Given the description of an element on the screen output the (x, y) to click on. 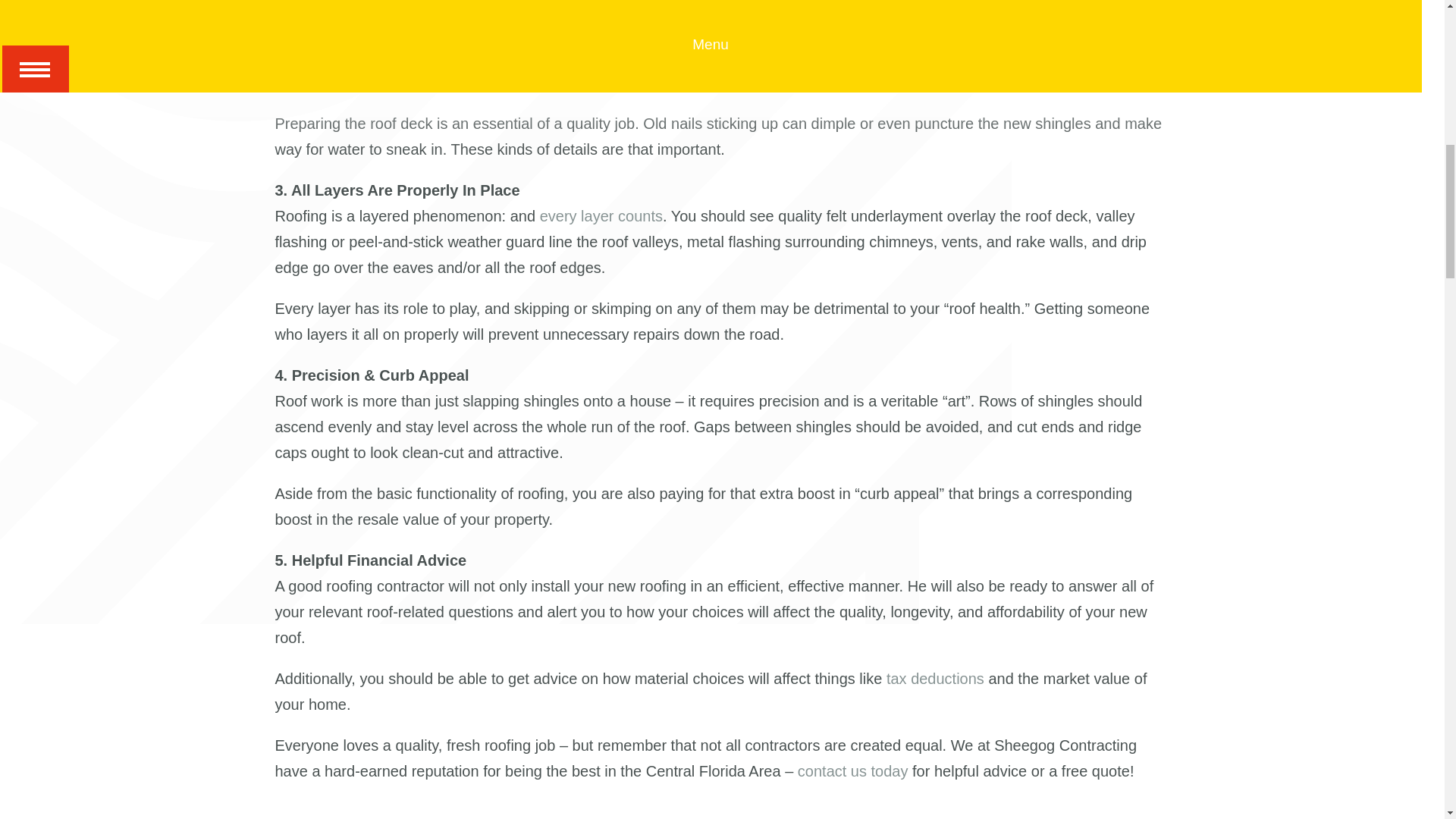
tax deductions (935, 678)
every layer counts (601, 216)
contact us today (852, 770)
